Given the description of an element on the screen output the (x, y) to click on. 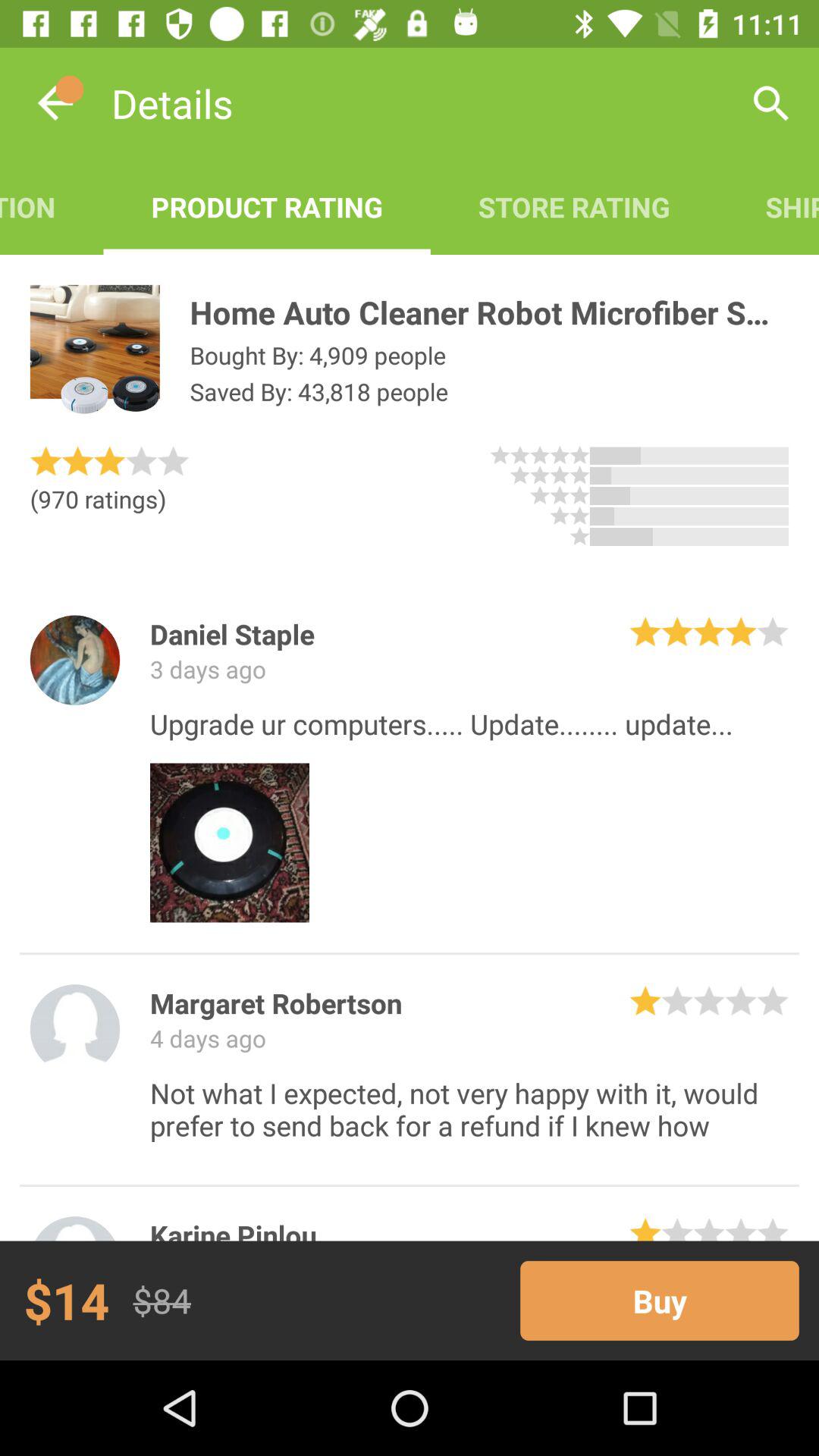
open the item next to the store rating (768, 206)
